Given the description of an element on the screen output the (x, y) to click on. 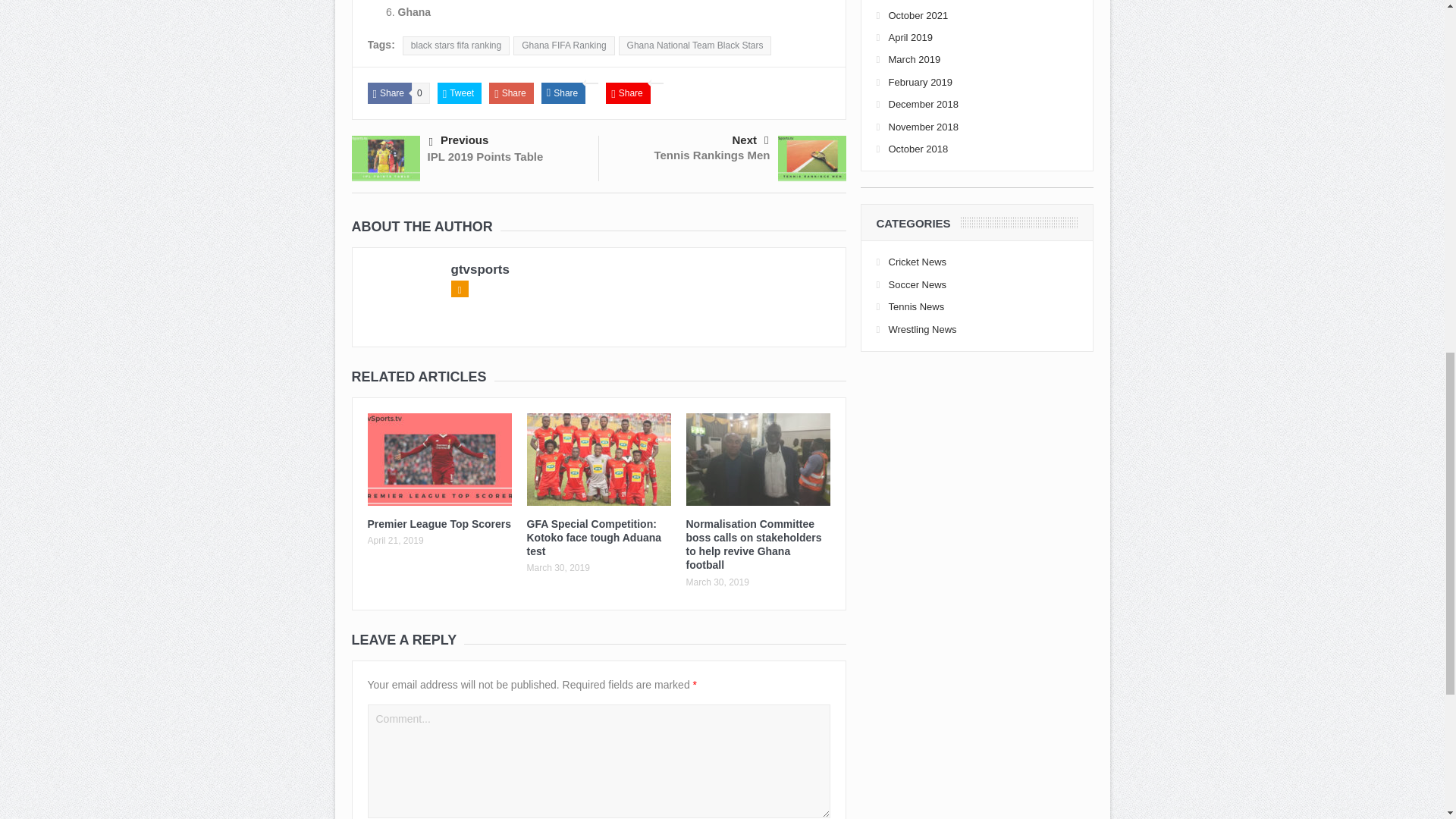
black stars fifa ranking (456, 45)
